Given the description of an element on the screen output the (x, y) to click on. 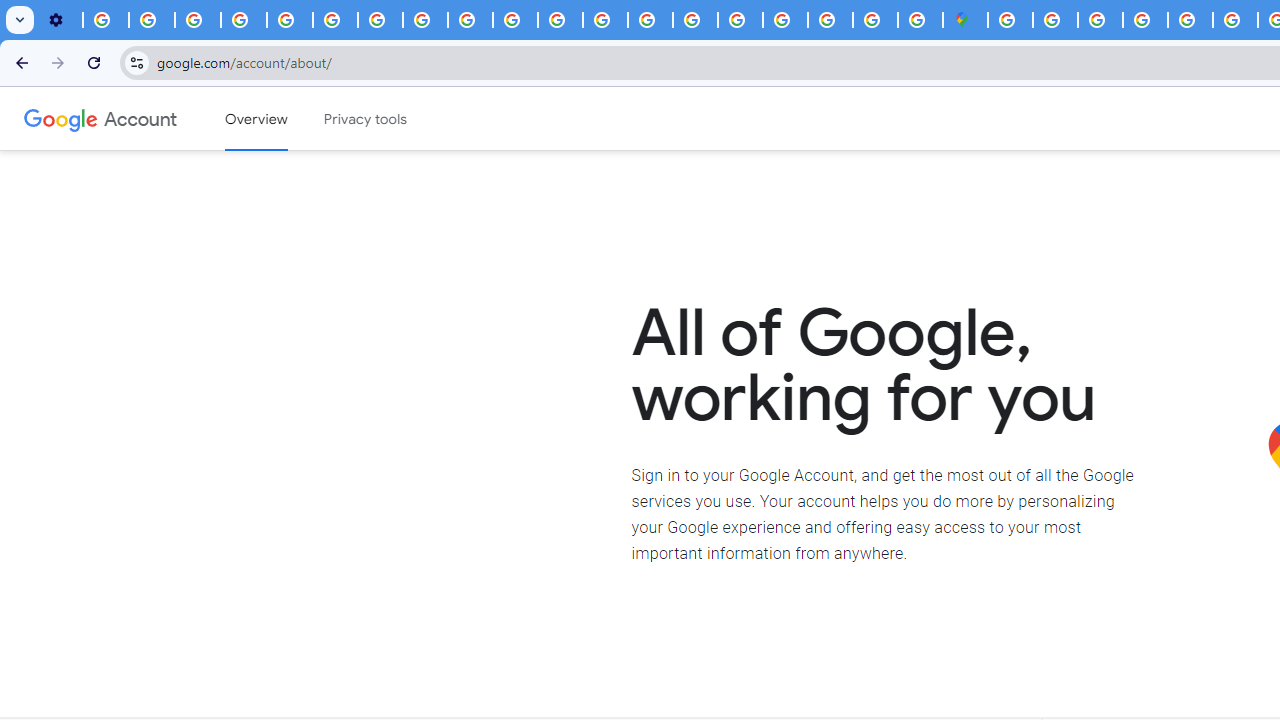
Settings - Customize profile (60, 20)
Privacy Help Center - Policies Help (1235, 20)
Sign in - Google Accounts (784, 20)
Google logo (61, 118)
Reload (93, 62)
https://scholar.google.com/ (559, 20)
View site information (136, 62)
Google Account Help (244, 20)
Search tabs (20, 20)
